Given the description of an element on the screen output the (x, y) to click on. 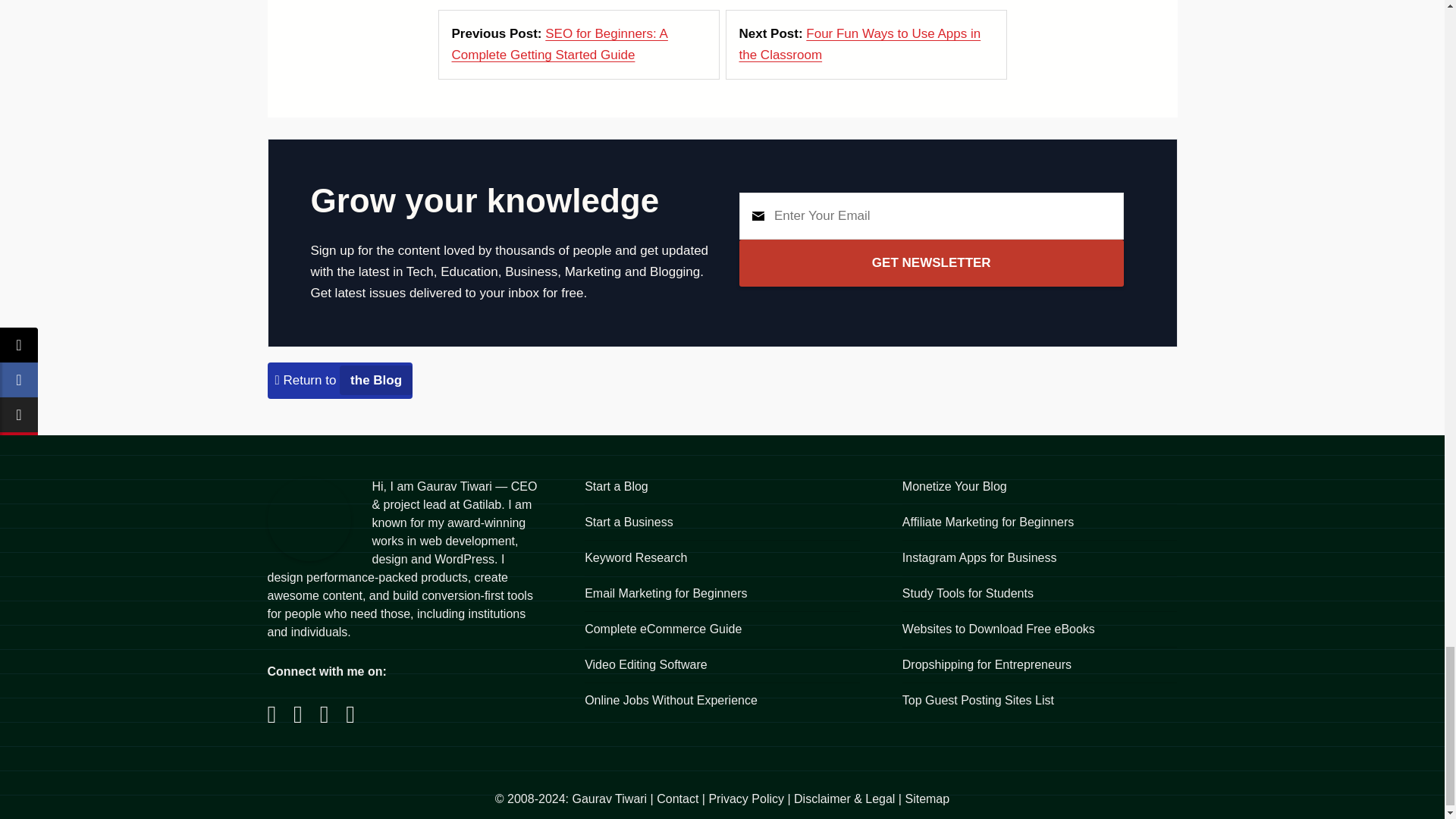
Get Newsletter (931, 262)
SEO for Beginners: A Complete Getting Started Guide (559, 44)
Four Fun Ways to Use Apps in the Classroom (858, 44)
Get Newsletter (931, 262)
Return to the Blog (343, 380)
